Given the description of an element on the screen output the (x, y) to click on. 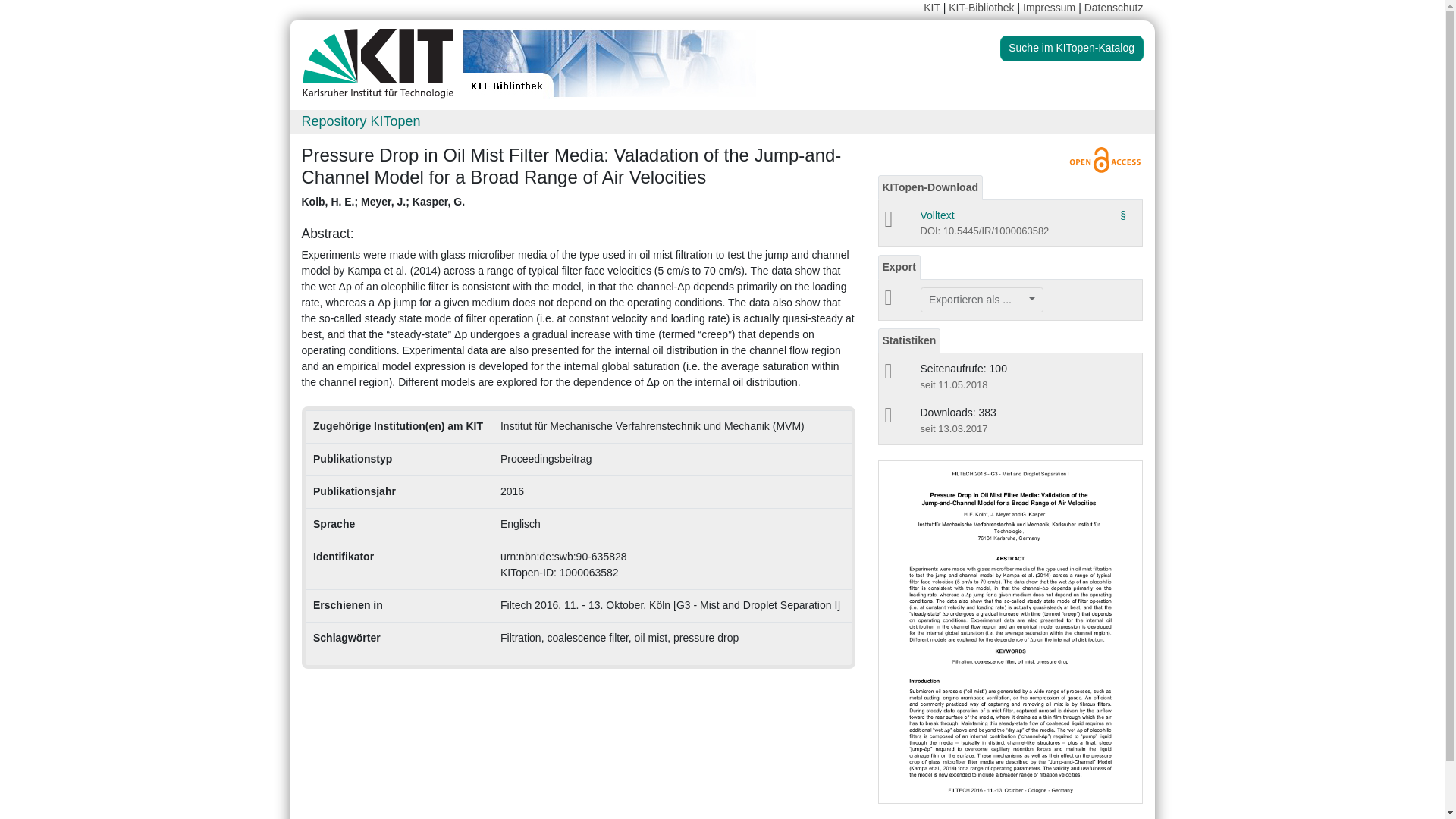
Statistiken (908, 340)
Exportieren als ...     (981, 299)
Volltext (937, 215)
Repository KITopen (360, 120)
Export (898, 267)
Suche im KITopen-Katalog (1071, 48)
KITopen-Download (930, 187)
KIT (931, 7)
Datenschutz (1113, 7)
Impressum (1049, 7)
KIT-Bibliothek (982, 7)
